Given the description of an element on the screen output the (x, y) to click on. 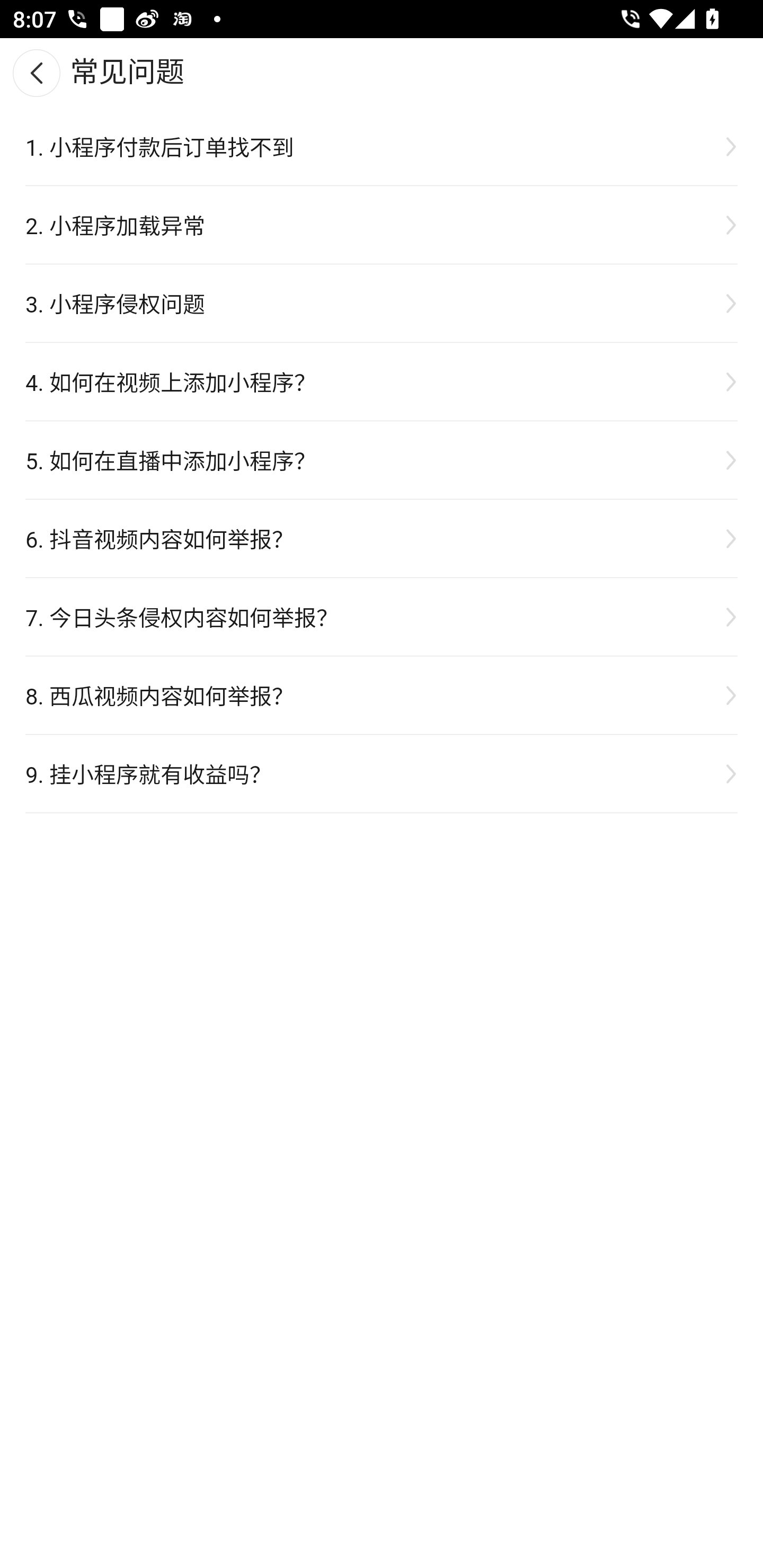
1. 小程序付款后订单找不到 (381, 146)
2. 小程序加载异常 (381, 224)
3. 小程序侵权问题 (381, 302)
4. 如何在视频上添加小程序？ (381, 381)
5. 如何在直播中添加小程序？ (381, 459)
6. 抖音视频内容如何举报？ (381, 537)
7. 今日头条侵权内容如何举报？ (381, 616)
8. 西瓜视频内容如何举报？ (381, 694)
9. 挂小程序就有收益吗？ (381, 772)
